Given the description of an element on the screen output the (x, y) to click on. 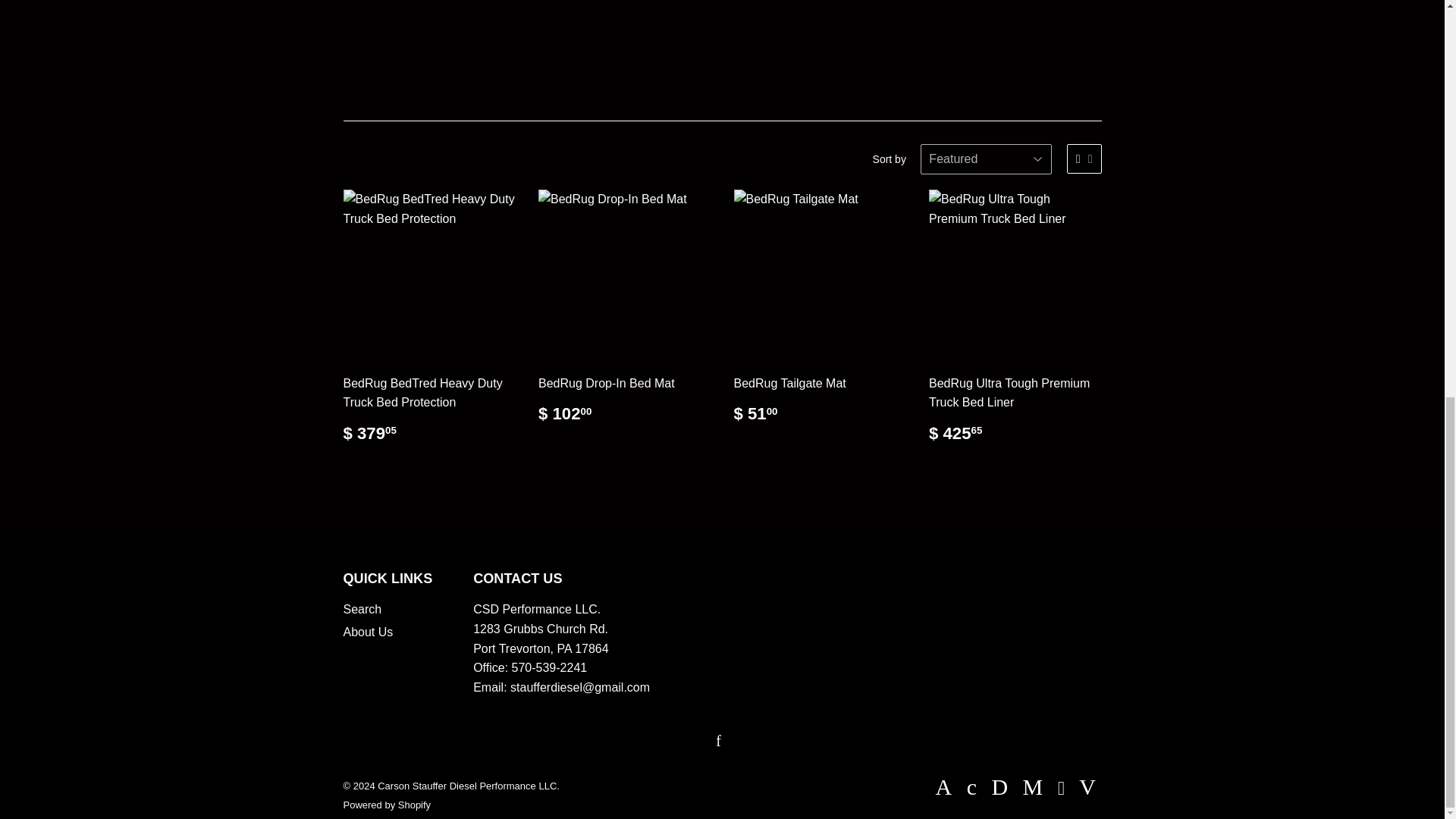
Carson Stauffer Diesel Performance LLC. on Facebook (718, 741)
List view (1090, 159)
Grid view (1077, 159)
